Given the description of an element on the screen output the (x, y) to click on. 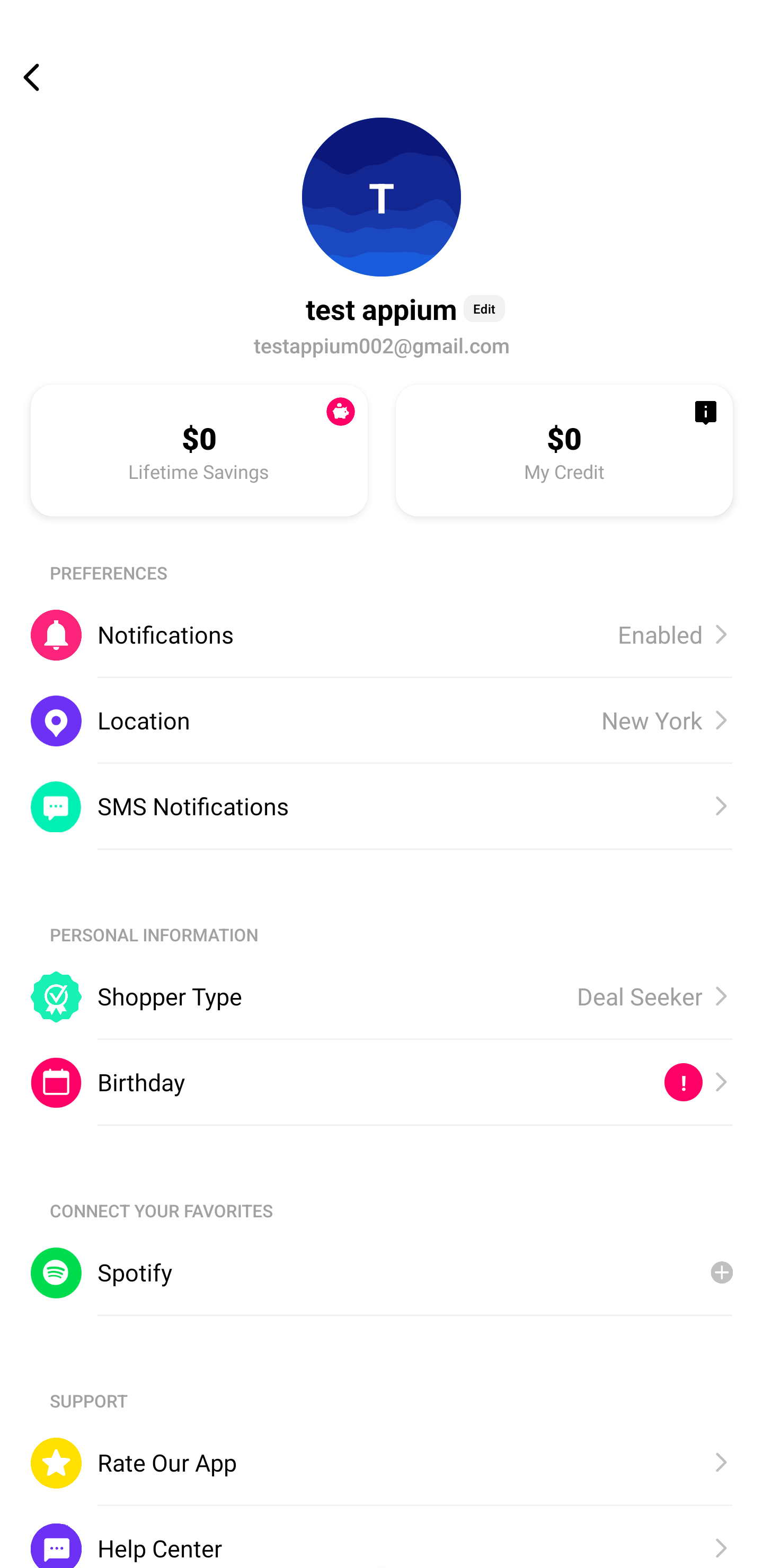
T (381, 196)
Edit (484, 307)
$0, Lifetime Savings $0 Lifetime Savings (198, 449)
$0, My Credit $0 My Credit (563, 449)
Location, New York Location New York (381, 720)
SMS Notifications,    SMS Notifications    (381, 806)
Shopper Type, Deal Seeker Shopper Type Deal Seeker (381, 996)
Birthday,   , ! Birthday    ! (381, 1082)
Spotify,    Spotify    (381, 1272)
Rate Our App,    Rate Our App    (381, 1462)
Help Center,    Help Center    (381, 1536)
